Given the description of an element on the screen output the (x, y) to click on. 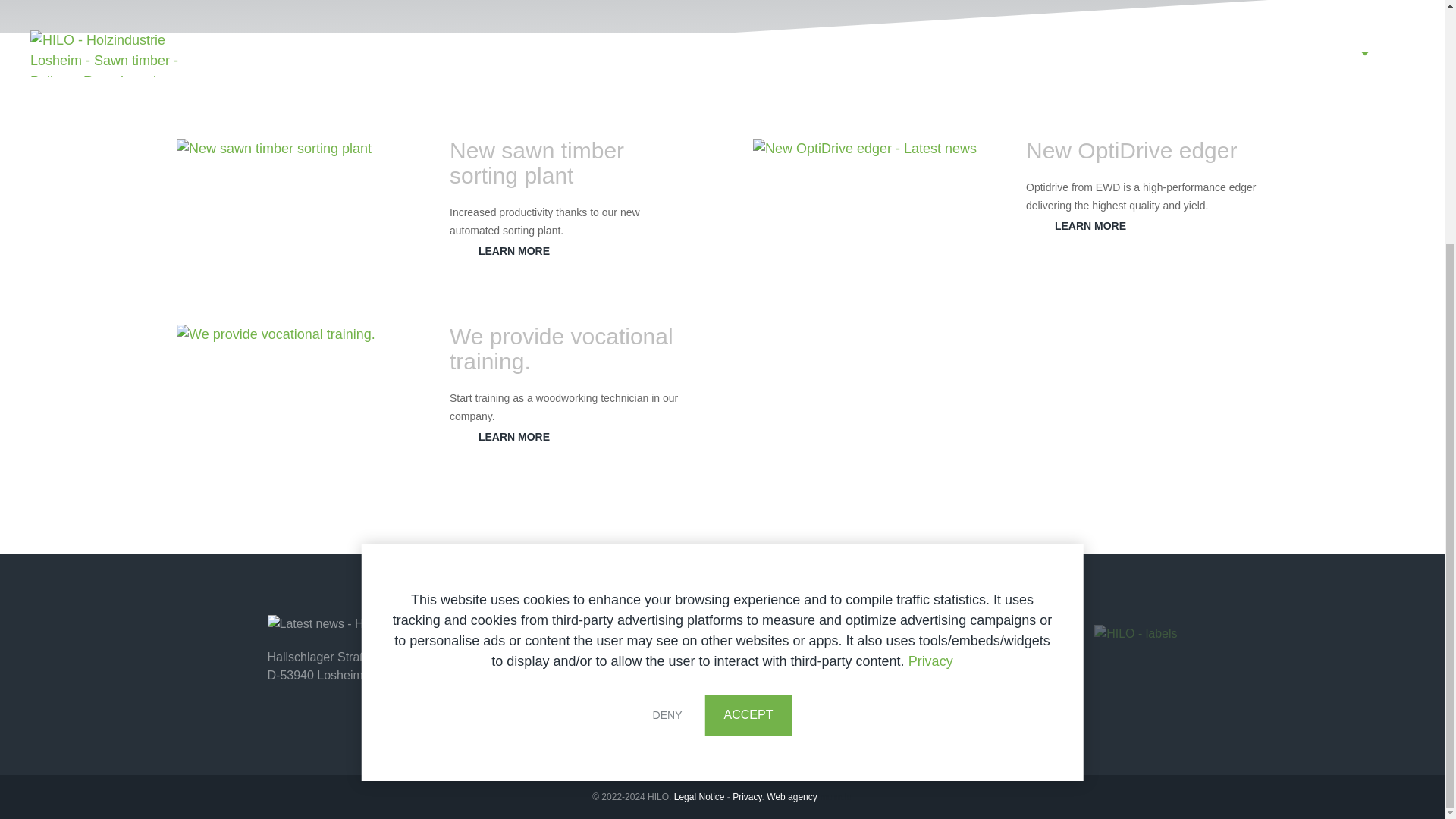
LinkedIn (895, 698)
Legal Notice (699, 796)
Privacy (930, 322)
Website by web agency MUM digital agency (791, 796)
Facebook (850, 698)
ACCEPT (748, 376)
DENY (667, 376)
